Given the description of an element on the screen output the (x, y) to click on. 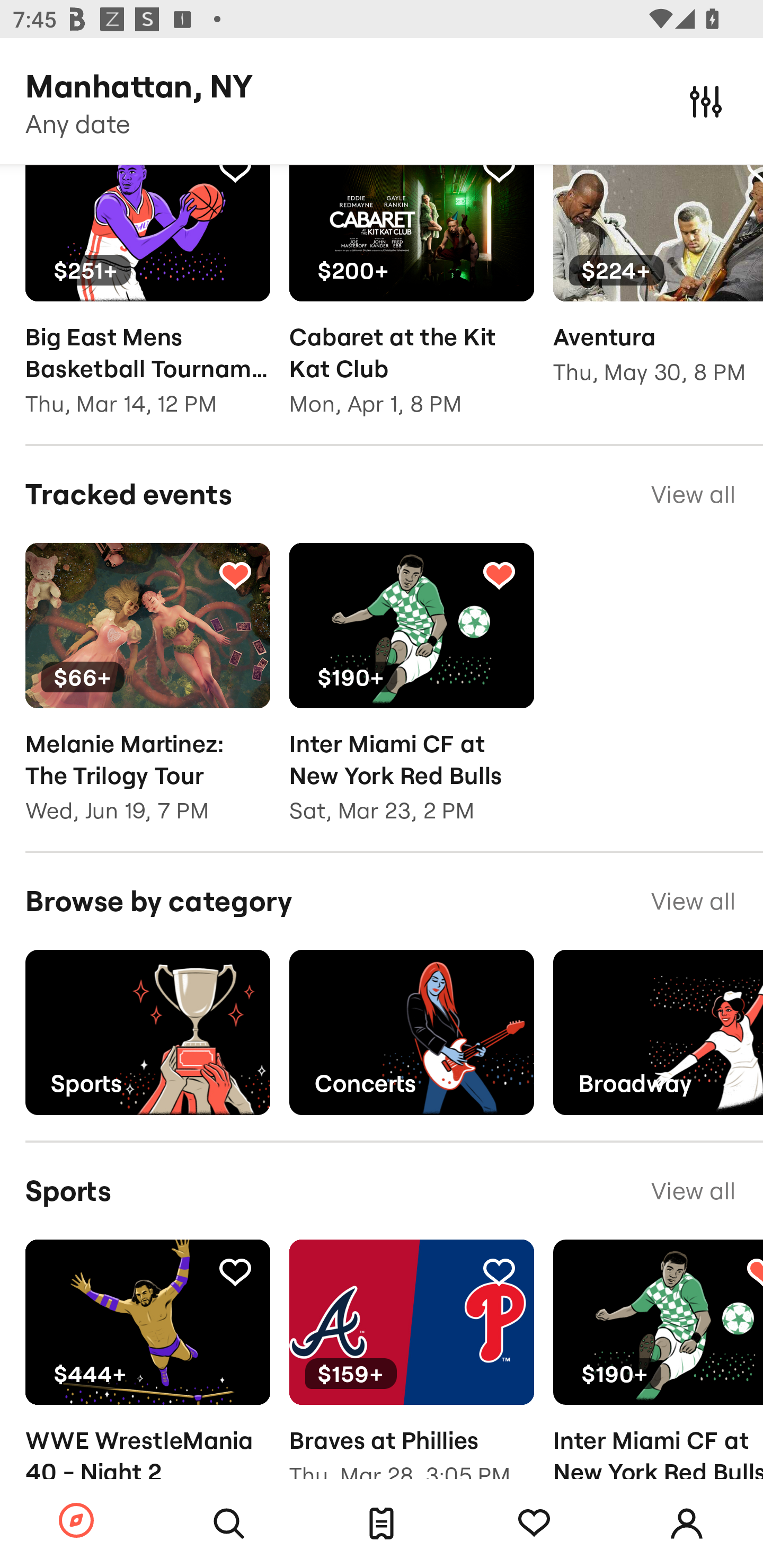
Close (705, 100)
Tracking (234, 175)
Tracking (498, 175)
Tracking $224+ Aventura Thu, May 30, 8 PM (658, 287)
Tracking (753, 175)
View all (693, 493)
Tracking (234, 574)
Tracking (498, 574)
View all (693, 901)
Sports (147, 1032)
Concerts (411, 1032)
Broadway (658, 1032)
View all (693, 1191)
Tracking (234, 1271)
Tracking (498, 1271)
Tracking (753, 1271)
Browse (76, 1521)
Search (228, 1523)
Tickets (381, 1523)
Tracking (533, 1523)
Account (686, 1523)
